Given the description of an element on the screen output the (x, y) to click on. 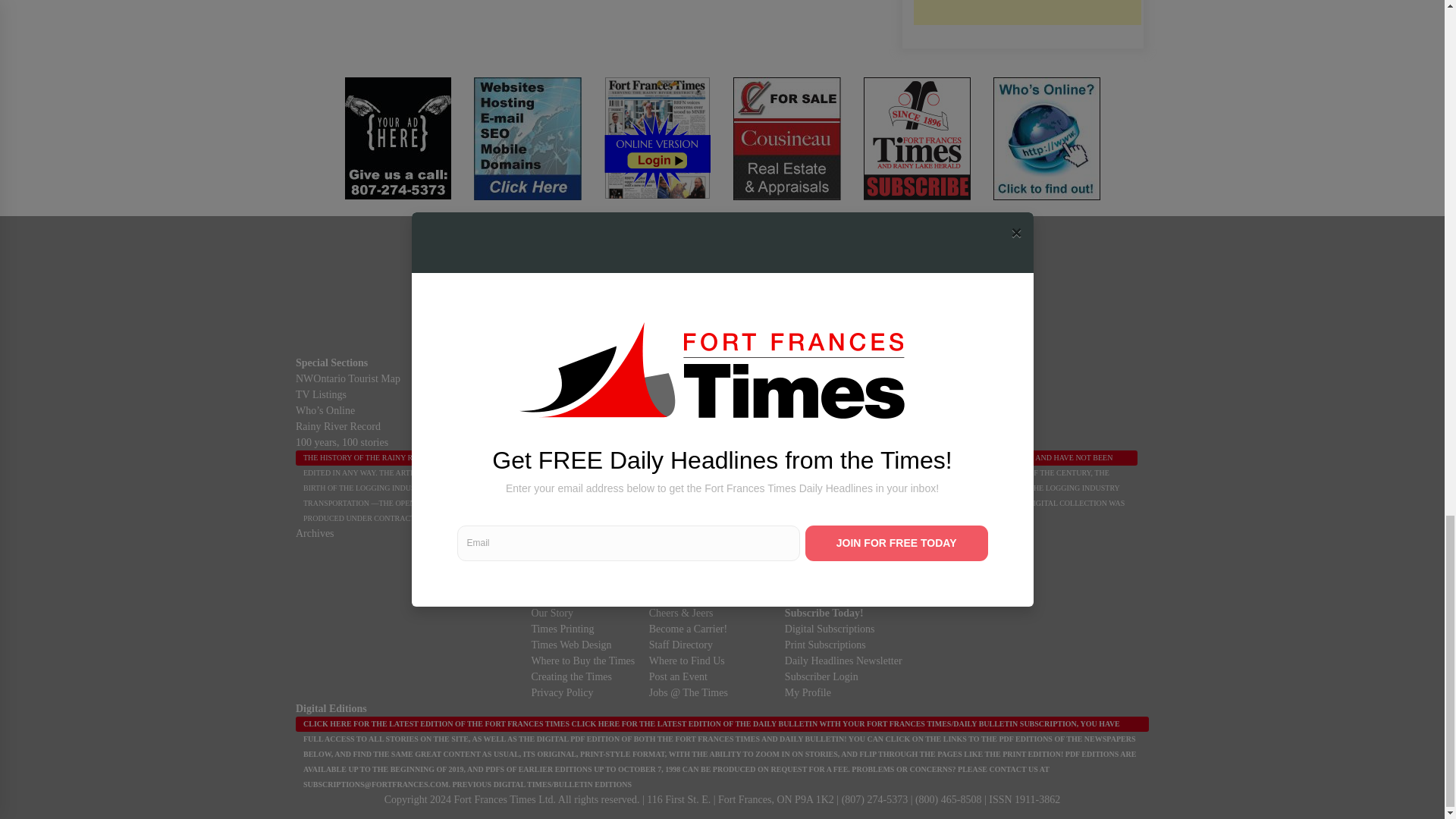
Advertisement (1026, 12)
